Given the description of an element on the screen output the (x, y) to click on. 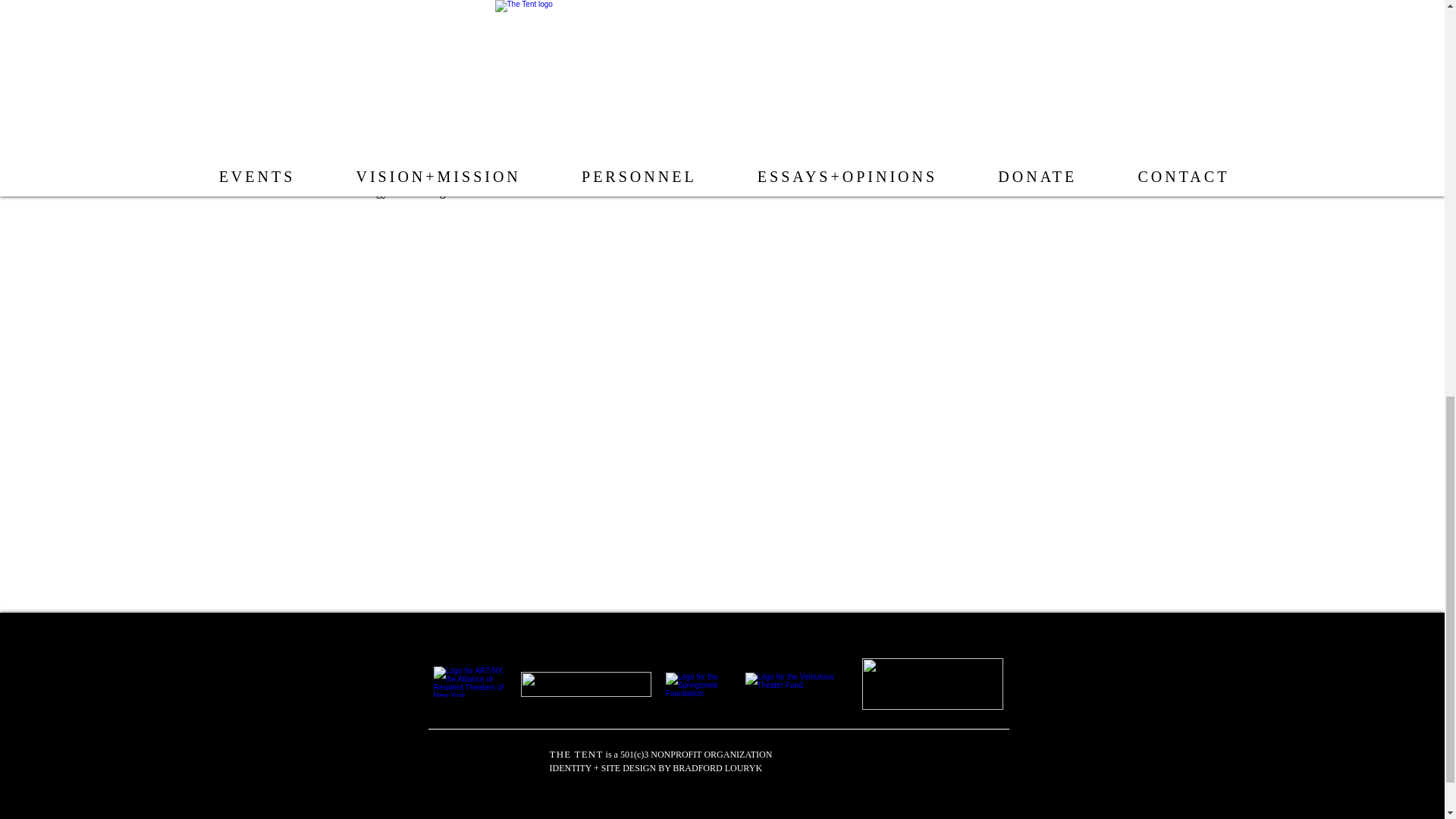
BRADFORD LOURYK (716, 767)
Chan2.png (1090, 31)
Chan1.png (272, 47)
ForgeLogoBgrd.png (584, 683)
Chan3.png (1174, 16)
